Given the description of an element on the screen output the (x, y) to click on. 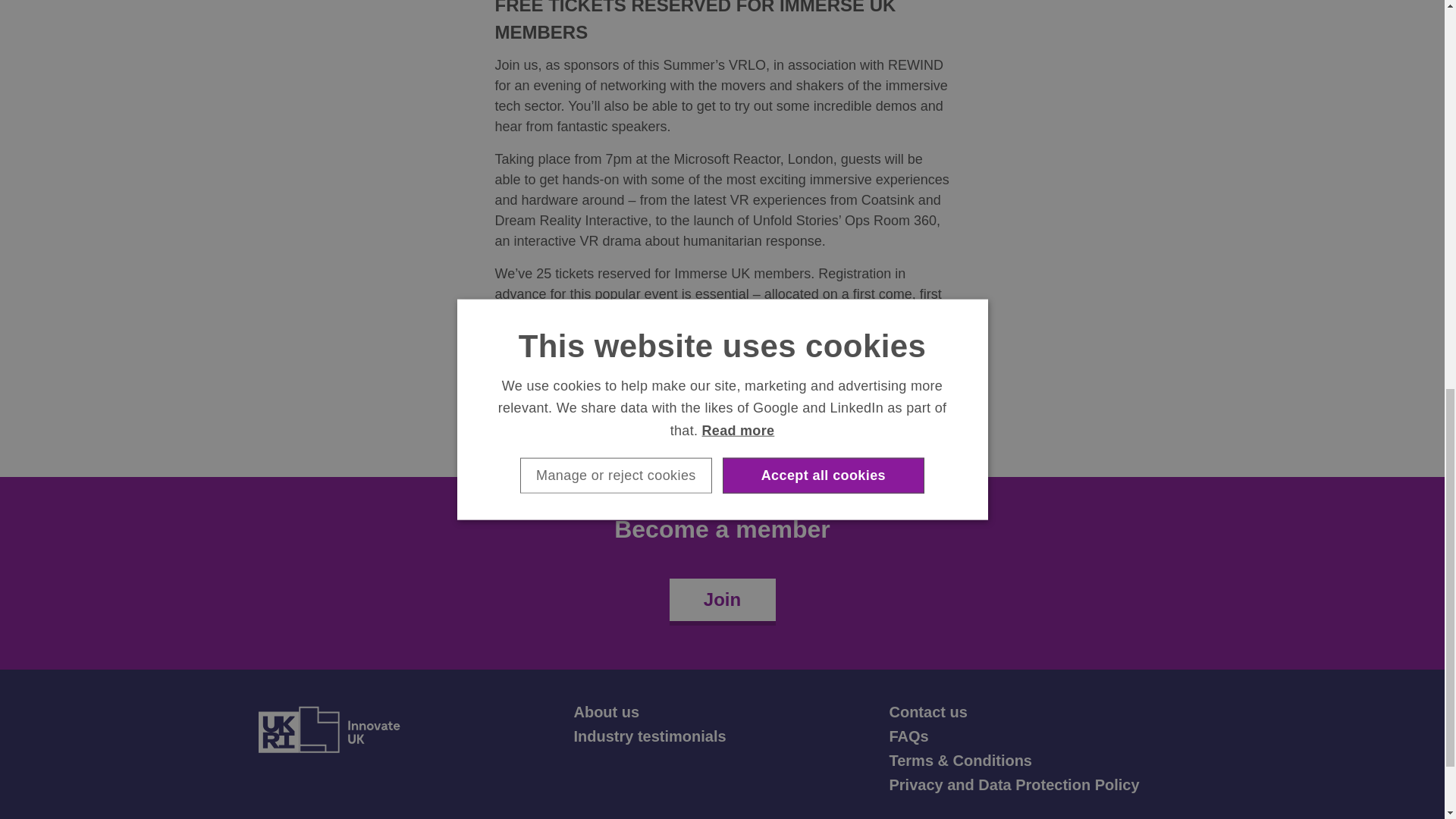
About us (606, 711)
FAQs (908, 736)
Register here for VRLO (650, 314)
Contact us (927, 711)
Industry testimonials (649, 736)
Innovate UK Website (327, 728)
Privacy and Data Protection Policy (1013, 784)
About us (606, 711)
Join (721, 599)
Industry testimonials (649, 736)
